Given the description of an element on the screen output the (x, y) to click on. 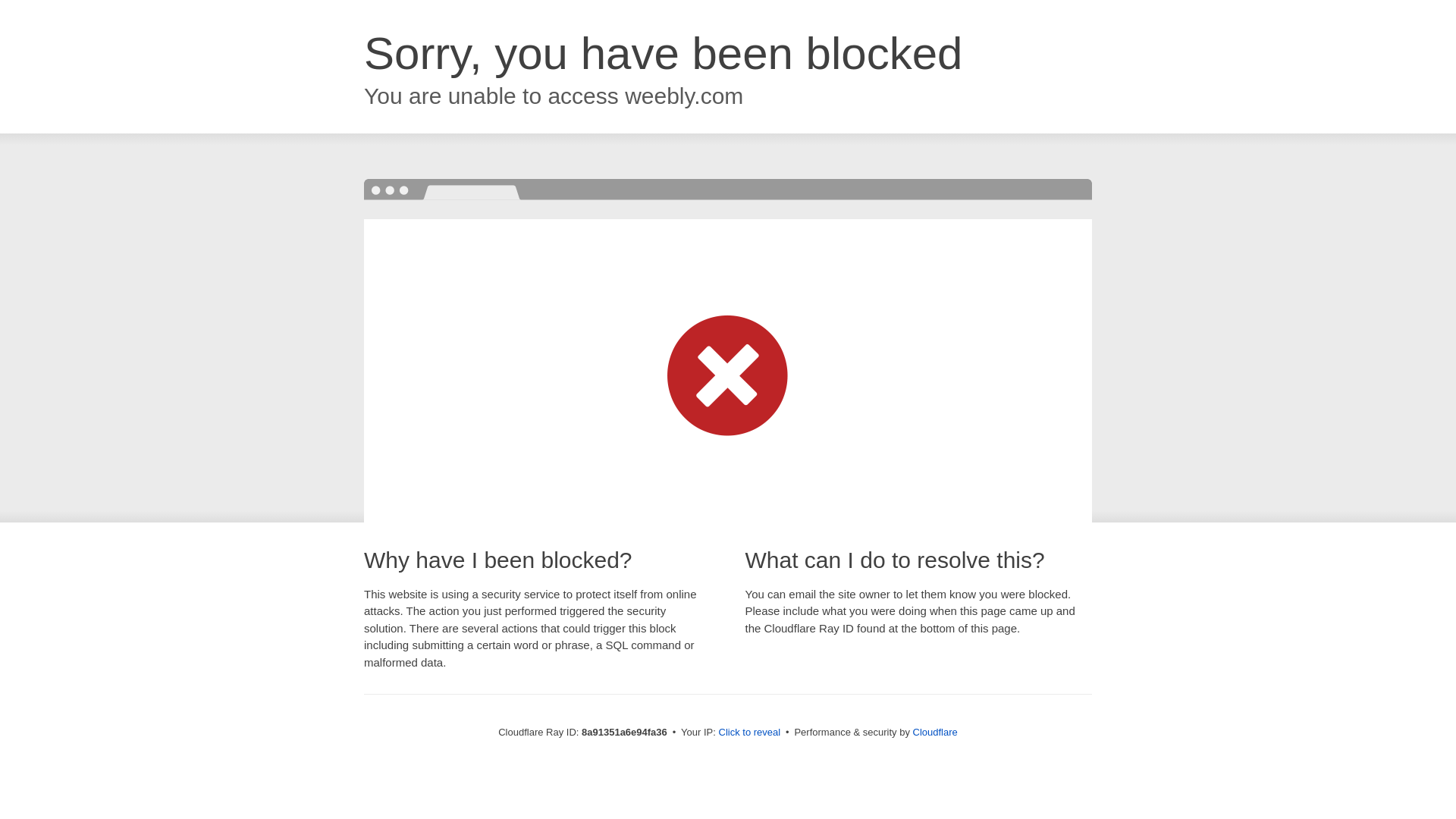
Click to reveal (749, 732)
Cloudflare (935, 731)
